Given the description of an element on the screen output the (x, y) to click on. 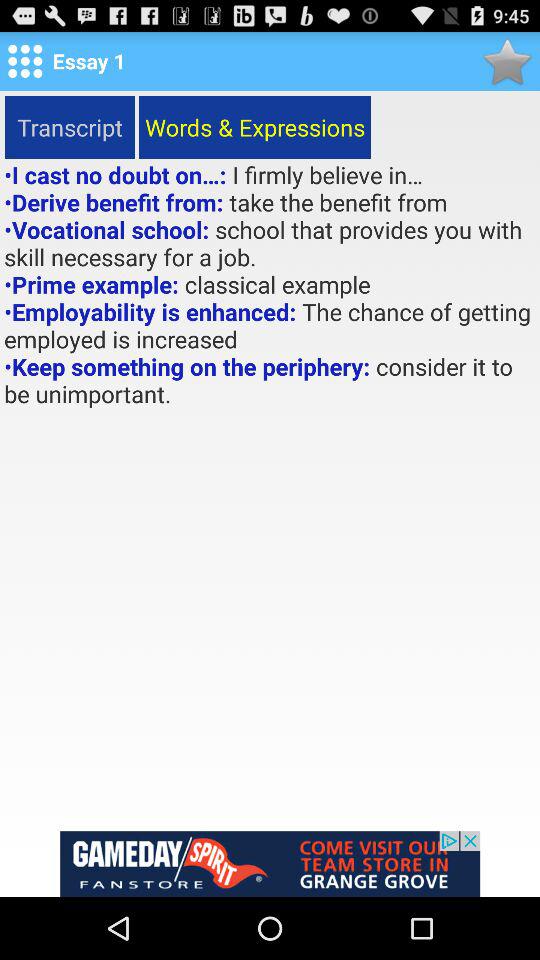
toggle menu option (25, 61)
